Given the description of an element on the screen output the (x, y) to click on. 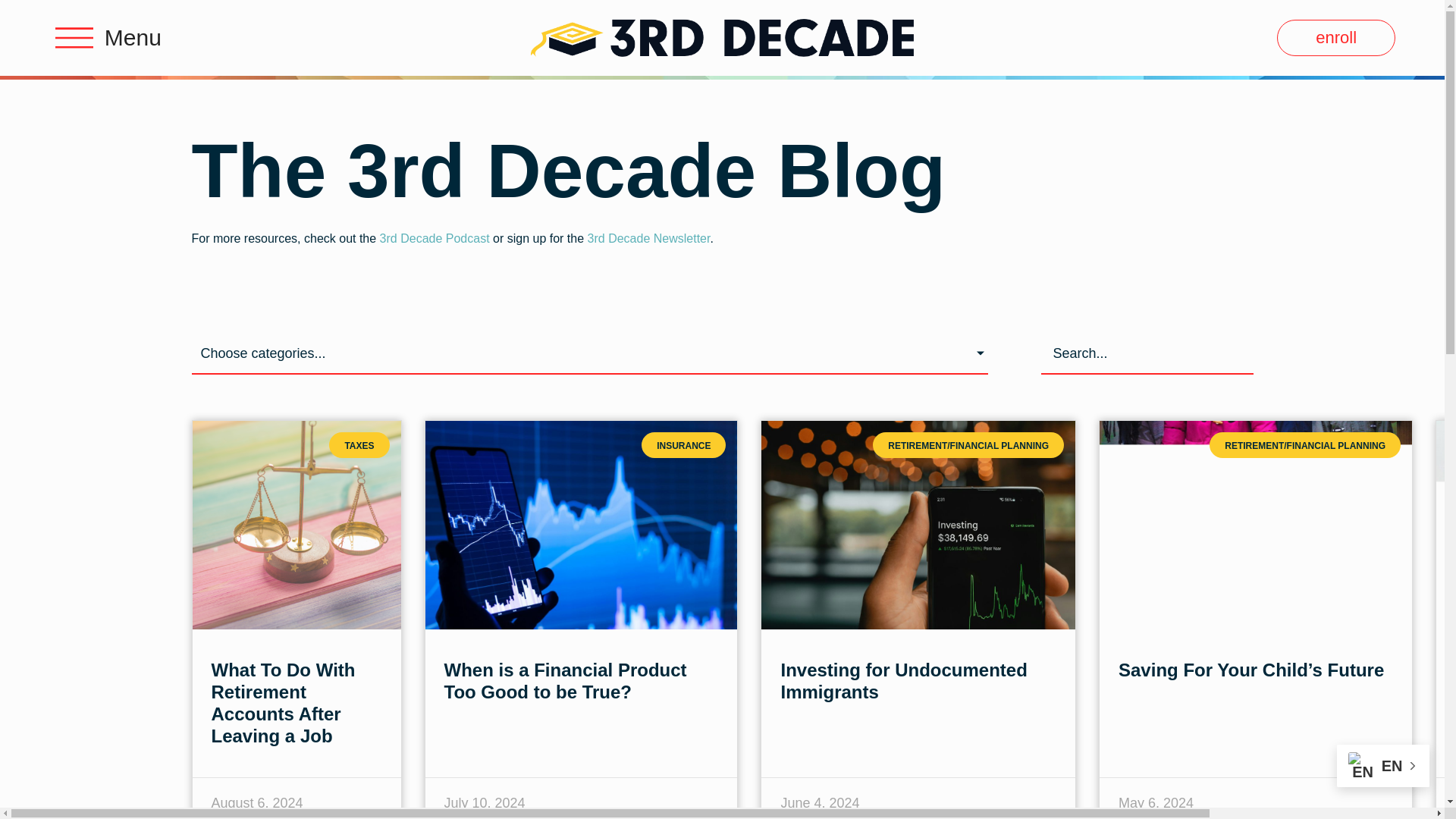
Investing for Undocumented Immigrants (903, 680)
3rd Decade Newsletter (649, 237)
When is a Financial Product Too Good to be True? (565, 680)
3rd Decade Podcast (434, 237)
What To Do With Retirement Accounts After Leaving a Job (283, 702)
enroll (1335, 37)
Menu (132, 37)
